Given the description of an element on the screen output the (x, y) to click on. 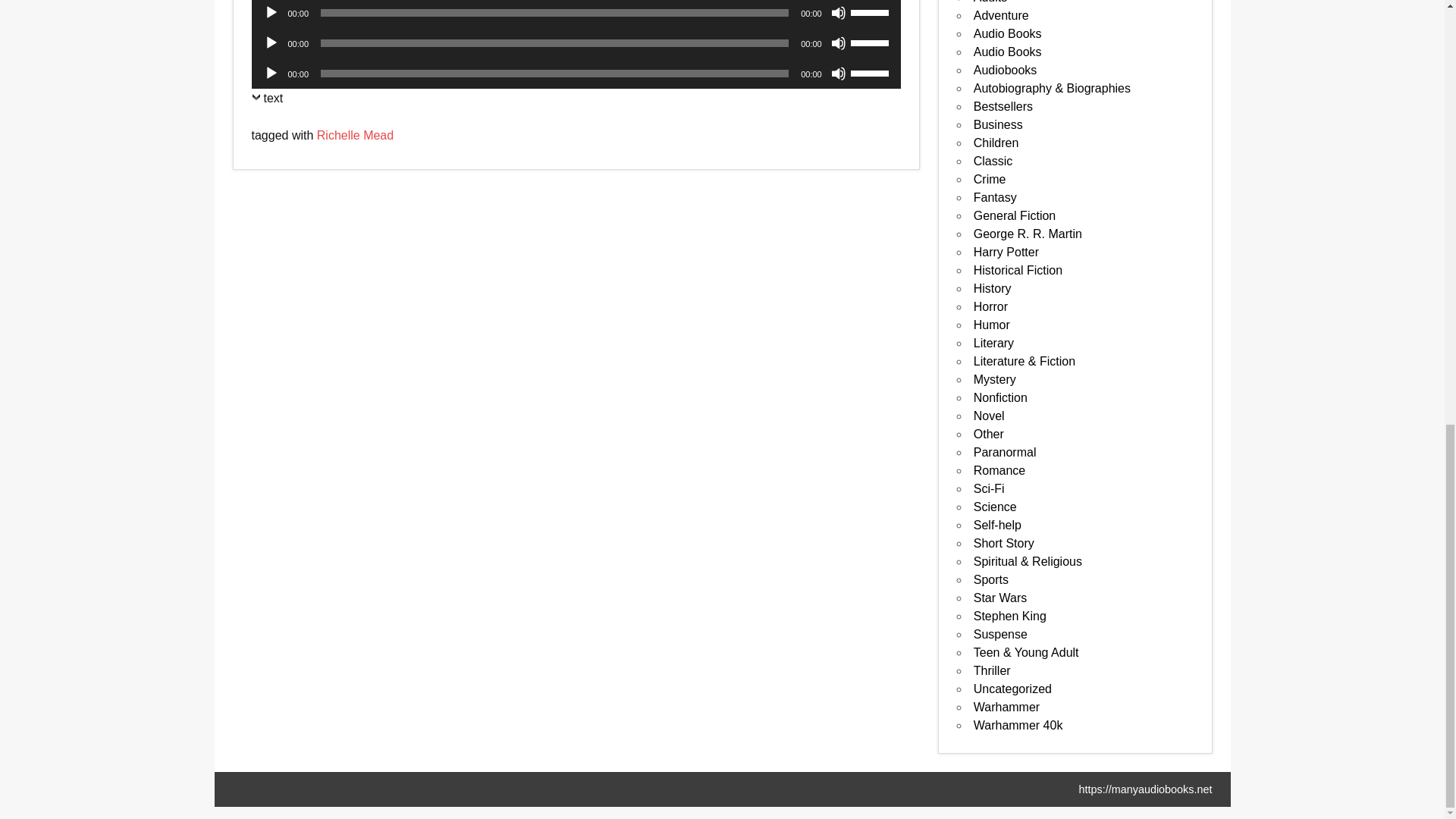
Play (271, 43)
Play (271, 12)
Mute (838, 12)
